Given the description of an element on the screen output the (x, y) to click on. 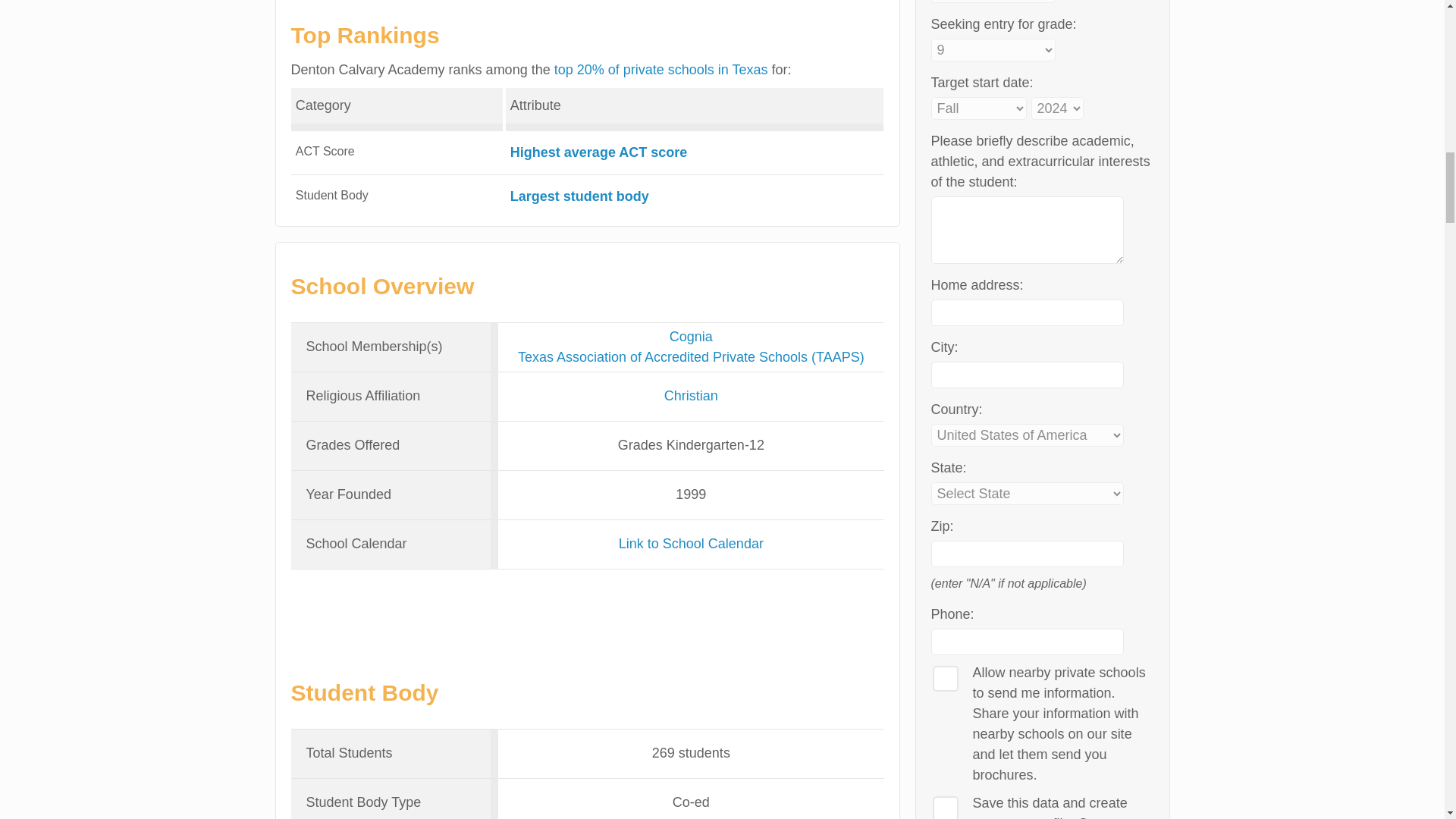
Highest average ACT score (599, 151)
Link to School Calendar (690, 543)
Largest student body (580, 196)
Christian (690, 395)
Cognia (691, 336)
